Given the description of an element on the screen output the (x, y) to click on. 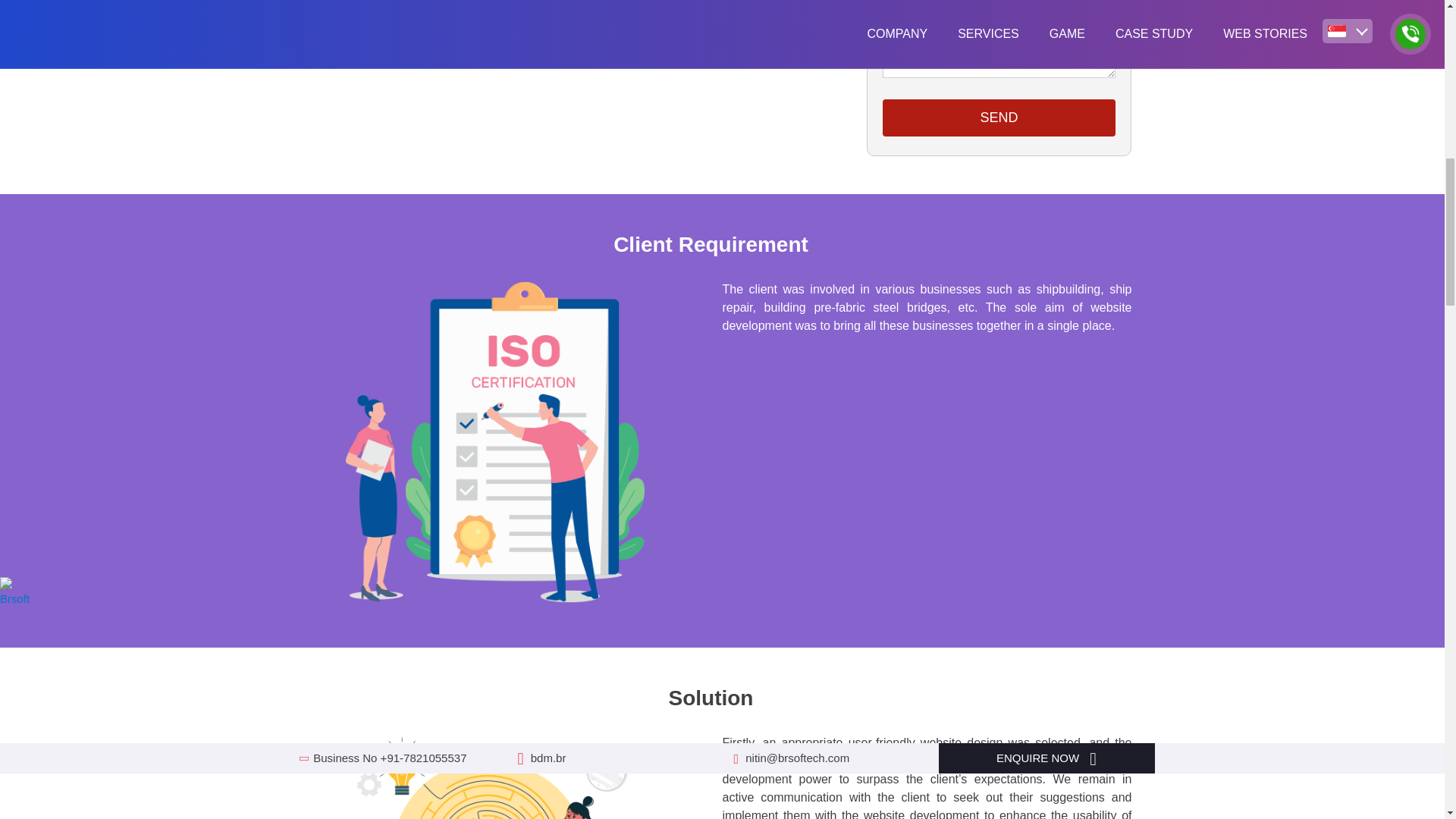
client requirement (493, 442)
